Given the description of an element on the screen output the (x, y) to click on. 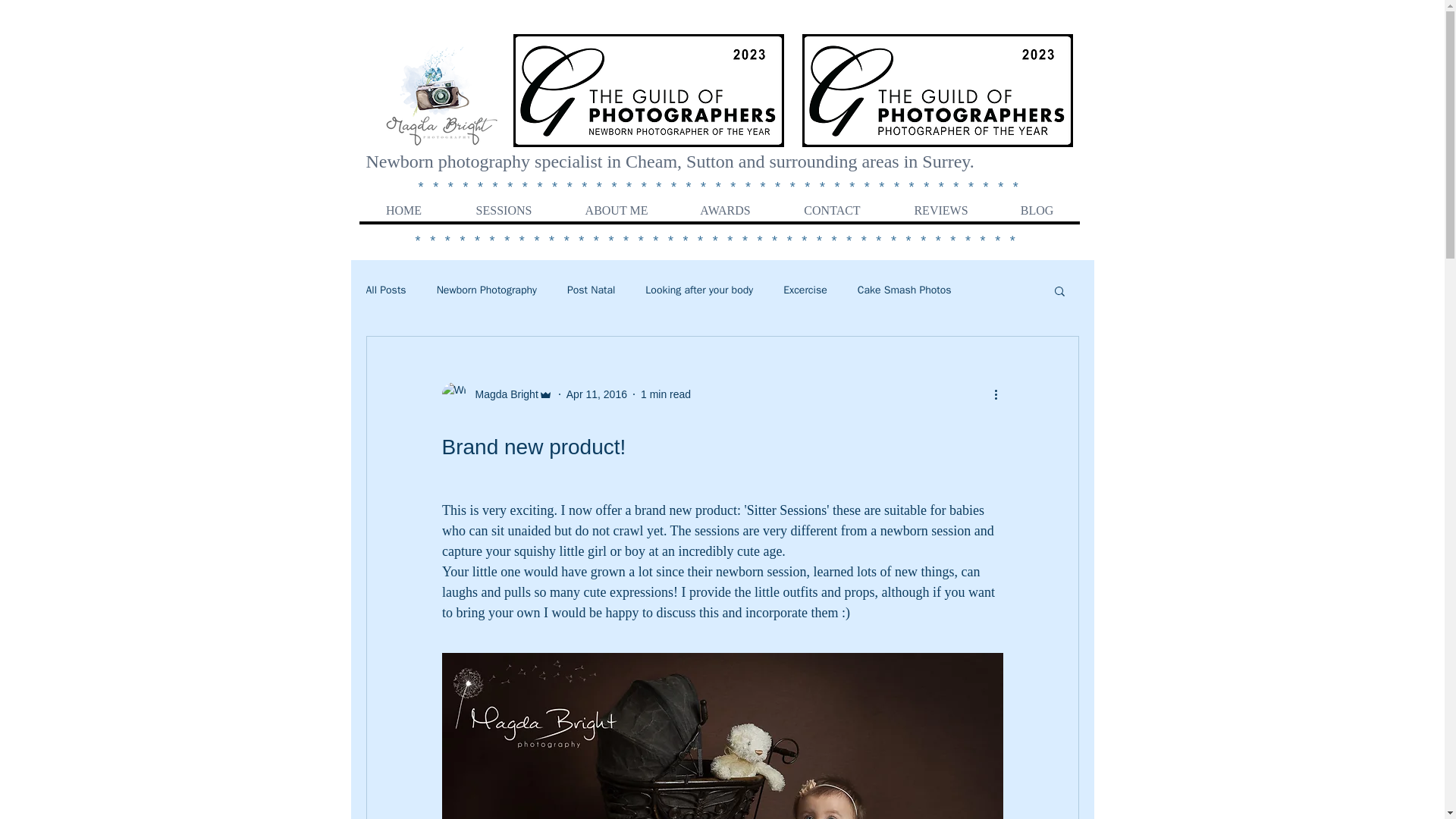
ABOUT ME (614, 210)
AWARDS (724, 210)
Newborn Photography (486, 290)
REVIEWS (939, 210)
Excercise (805, 290)
Looking after your body (698, 290)
Newborn and Famil Photographer in Sutton, Surrey (438, 95)
Magda Bright (501, 394)
Cake Smash Photos (904, 290)
Apr 11, 2016 (596, 394)
HOME (403, 210)
All Posts (385, 290)
Post Natal (590, 290)
Magda Bright (496, 394)
Photographer of the Year 2023 (937, 90)
